Given the description of an element on the screen output the (x, y) to click on. 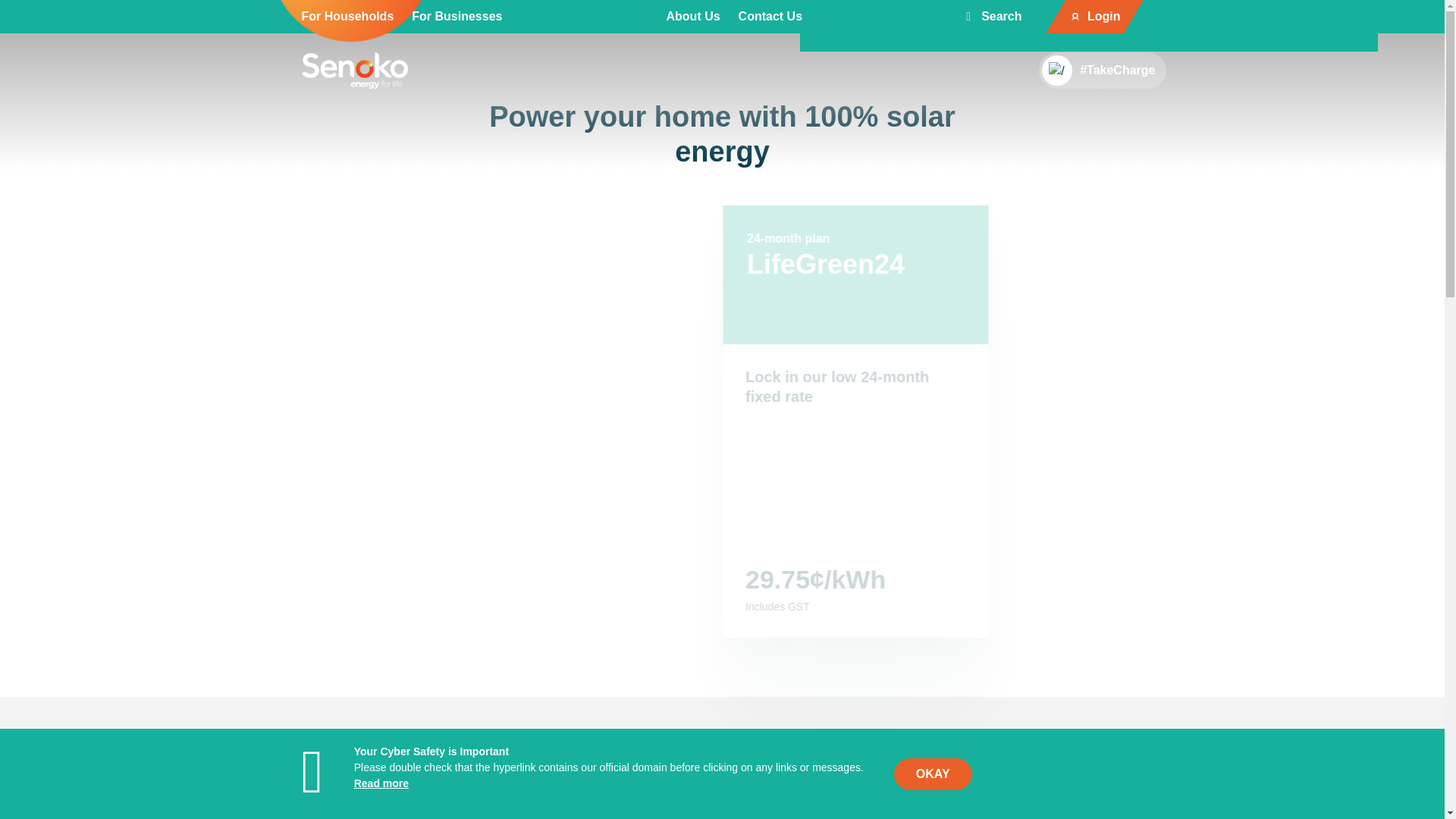
For Businesses (457, 16)
Login (1104, 15)
For Households (347, 16)
OKAY (932, 774)
About Us (692, 16)
Read more (381, 783)
Contact Us (770, 16)
